Given the description of an element on the screen output the (x, y) to click on. 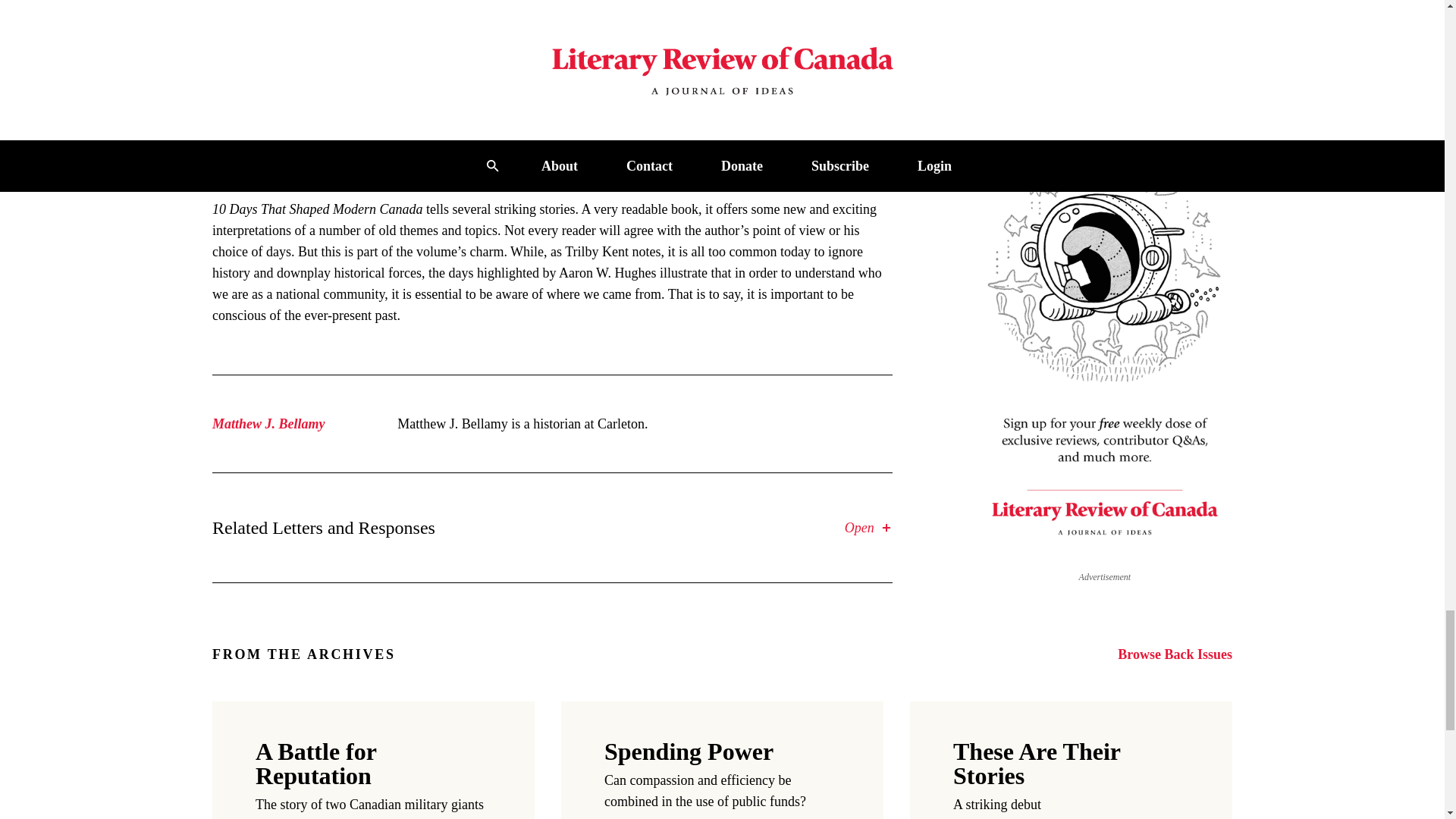
Matthew J. Bellamy (268, 423)
A Battle for Reputation (315, 763)
Browse Back Issues (1174, 654)
Open (868, 527)
Spending Power (688, 750)
These Are Their Stories (1036, 763)
